Given the description of an element on the screen output the (x, y) to click on. 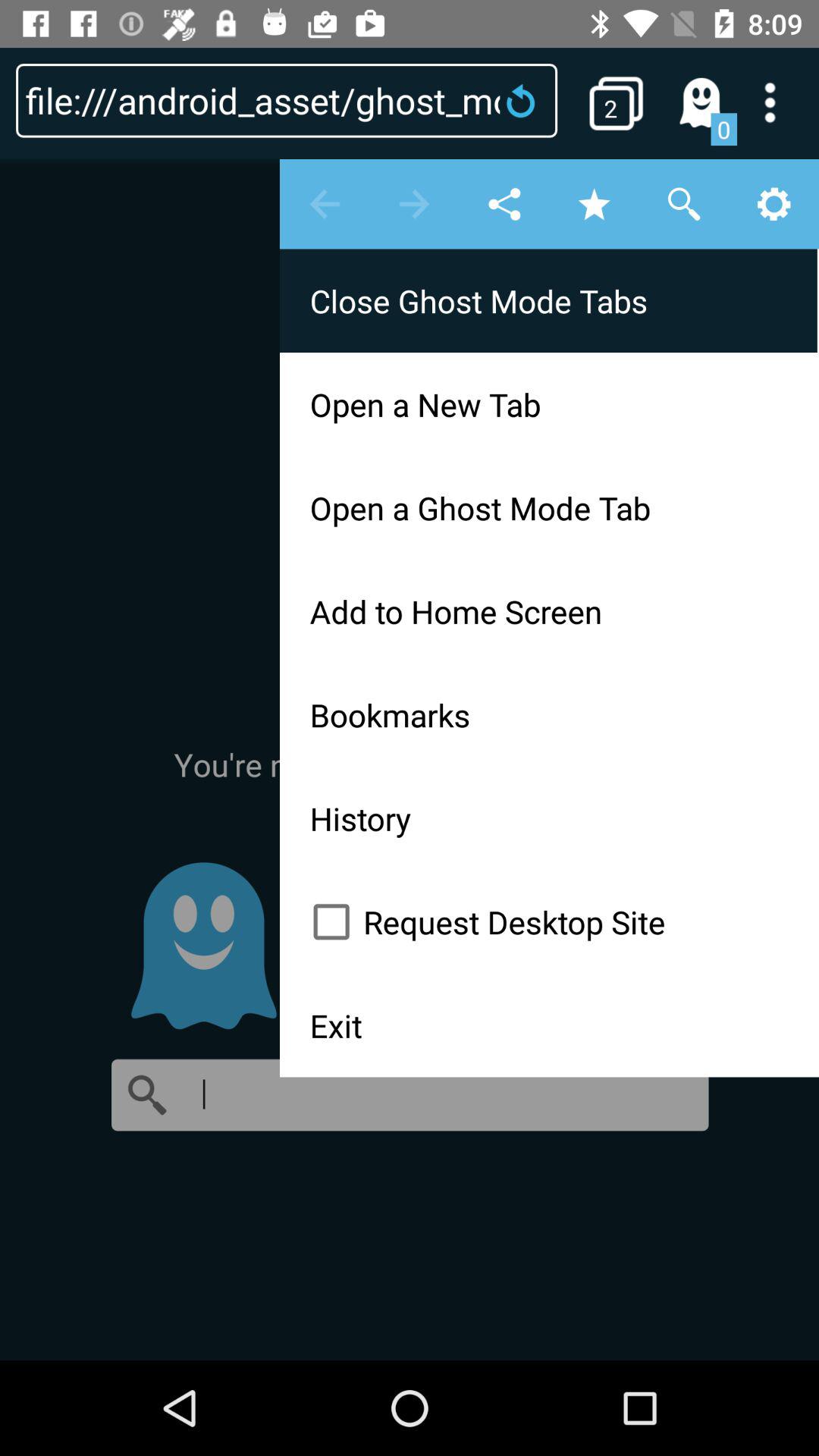
turn off the file android_asset ghost_mode icon (286, 100)
